Given the description of an element on the screen output the (x, y) to click on. 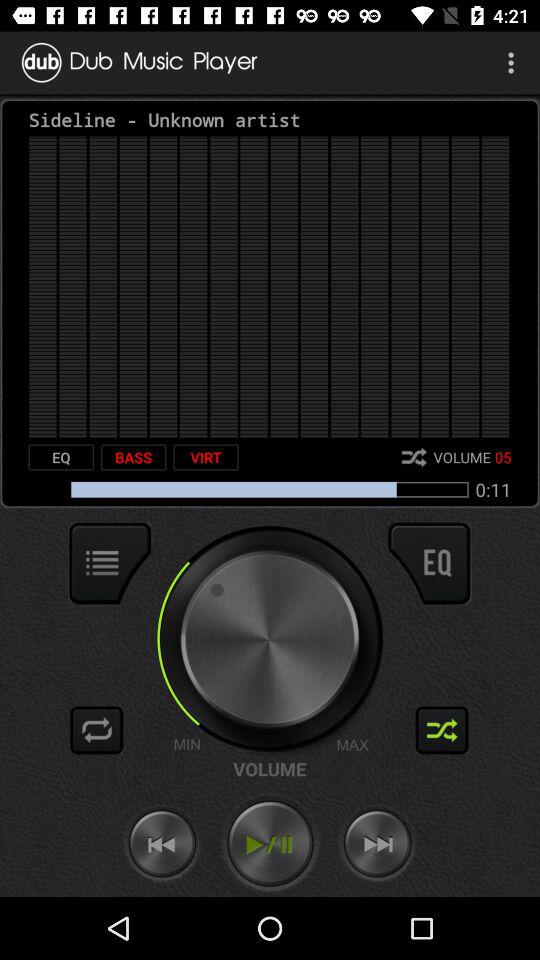
play next song (377, 844)
